Given the description of an element on the screen output the (x, y) to click on. 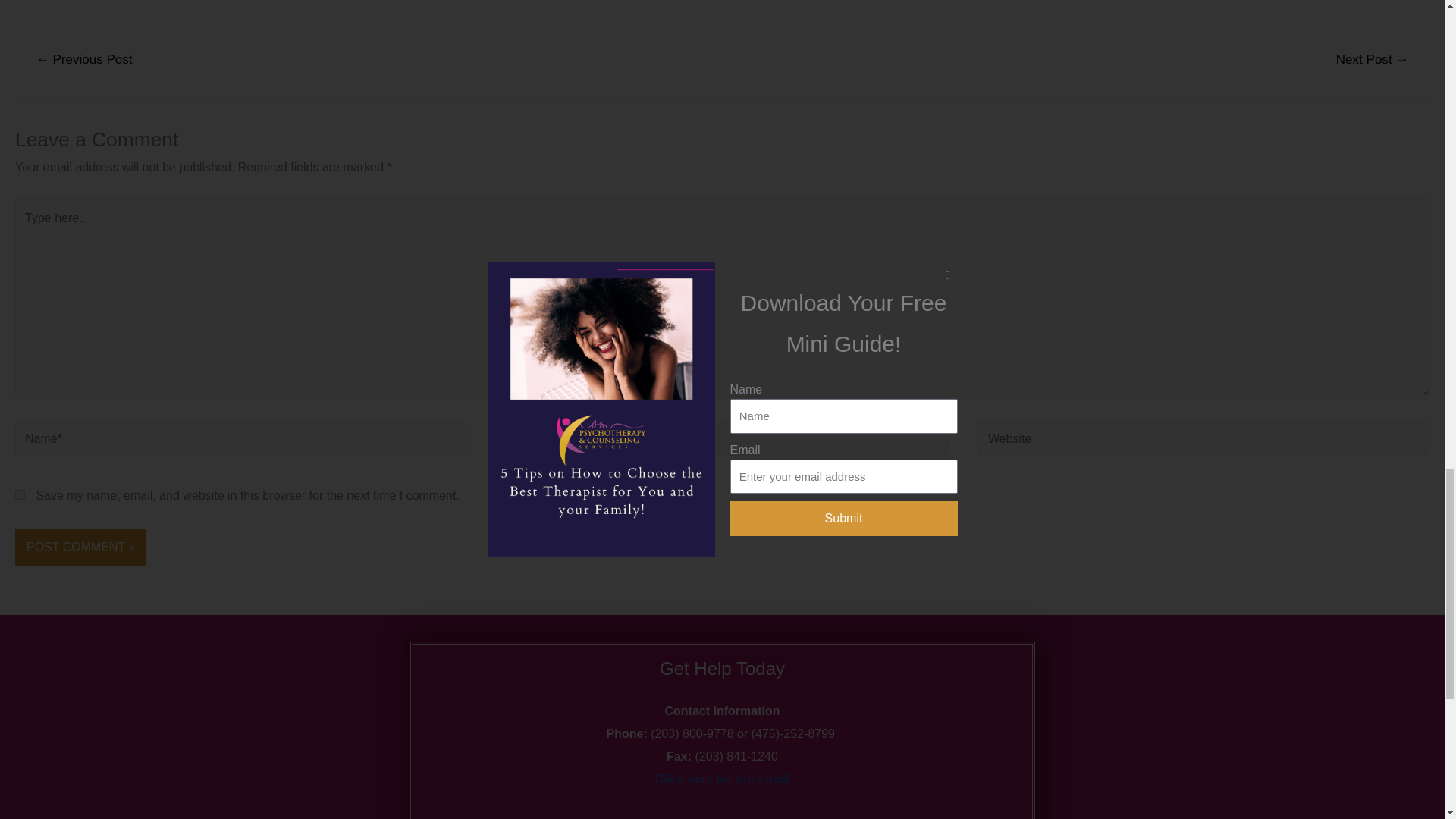
yes (19, 494)
